Given the description of an element on the screen output the (x, y) to click on. 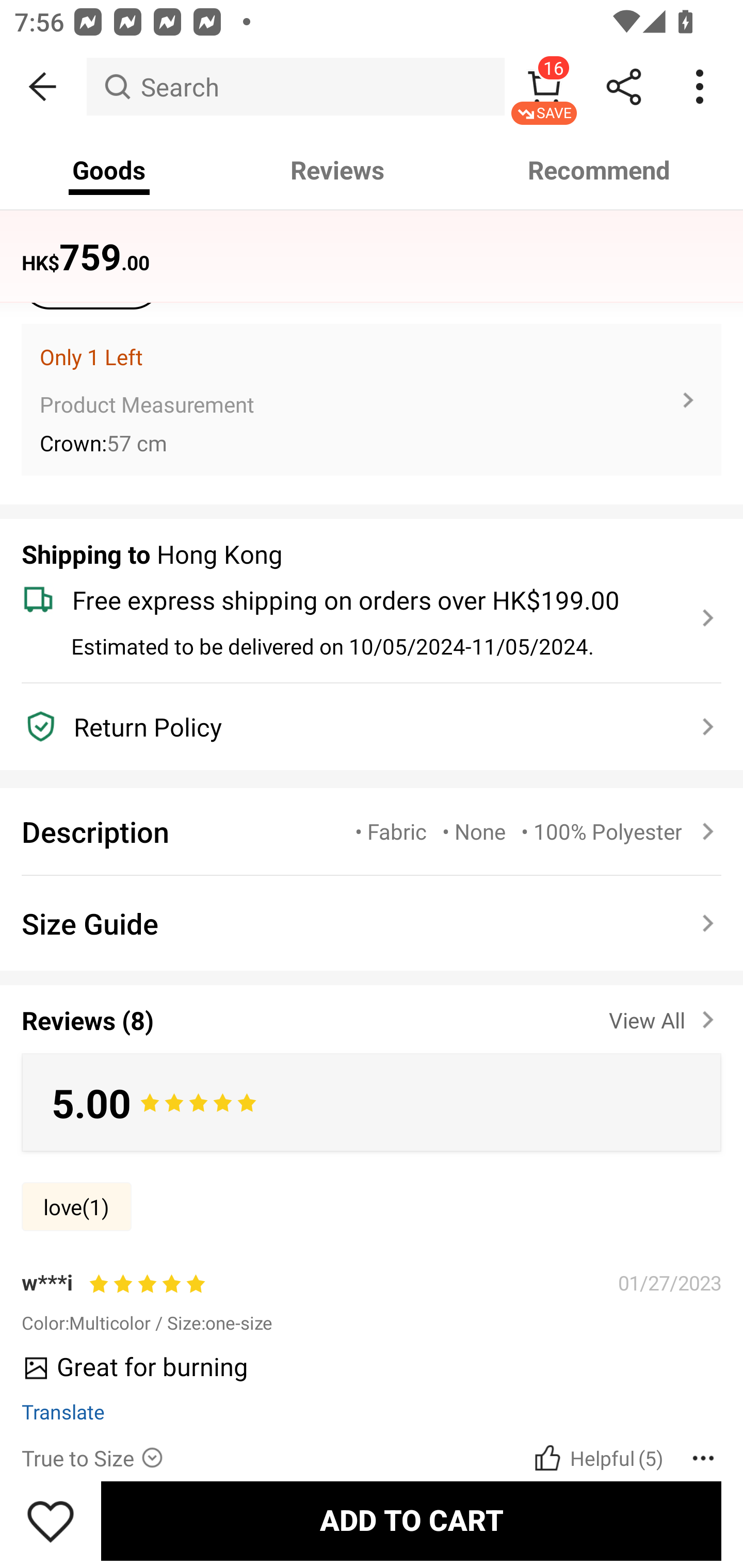
BACK (43, 86)
16 SAVE (543, 87)
Search (295, 87)
Goods (109, 170)
Reviews (337, 170)
Recommend (599, 170)
one-size one-sizeselected option (91, 273)
Only 1 Left Product Measurement Crown:57 cm (371, 399)
Return Policy (359, 726)
Size Guide (371, 923)
Reviews‎ (8) View All 5.00 Average rating5.00 (371, 1063)
View All (664, 1016)
love(1) (76, 1206)
  Great for burning (363, 1373)
Translate (62, 1411)
Cancel Helpful Was this article helpful? (5) (596, 1456)
ADD TO CART (411, 1520)
Save (50, 1520)
